Given the description of an element on the screen output the (x, y) to click on. 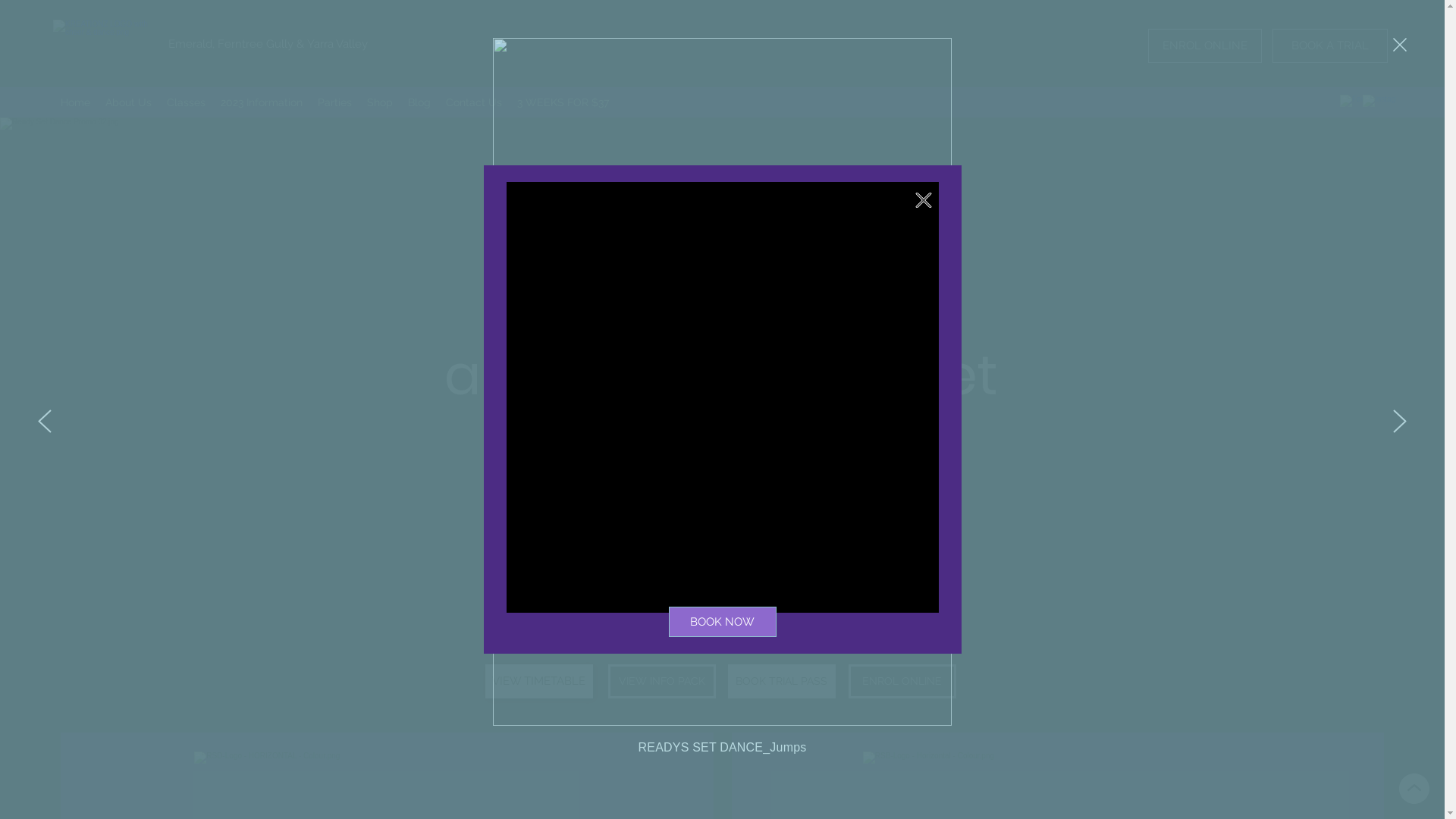
2023 Information Element type: text (261, 102)
Parties Element type: text (334, 102)
3 WEEKS FOR $37 Element type: text (562, 102)
VIEW TIMETABLE Element type: text (539, 681)
ENROL ONLINE Element type: text (901, 681)
Contact Us Element type: text (473, 102)
Shop Element type: text (379, 102)
Blog Element type: text (419, 102)
About Us Element type: text (128, 102)
BOOK A TRIAL Element type: text (1329, 45)
BOOK TRIAL PASS Element type: text (781, 681)
Back to site Element type: hover (923, 199)
VIEW INFO PACK Element type: text (661, 681)
ENROL ONLINE Element type: text (1204, 45)
Home Element type: text (75, 102)
BOOK NOW Element type: text (722, 621)
Classes Element type: text (186, 102)
